Given the description of an element on the screen output the (x, y) to click on. 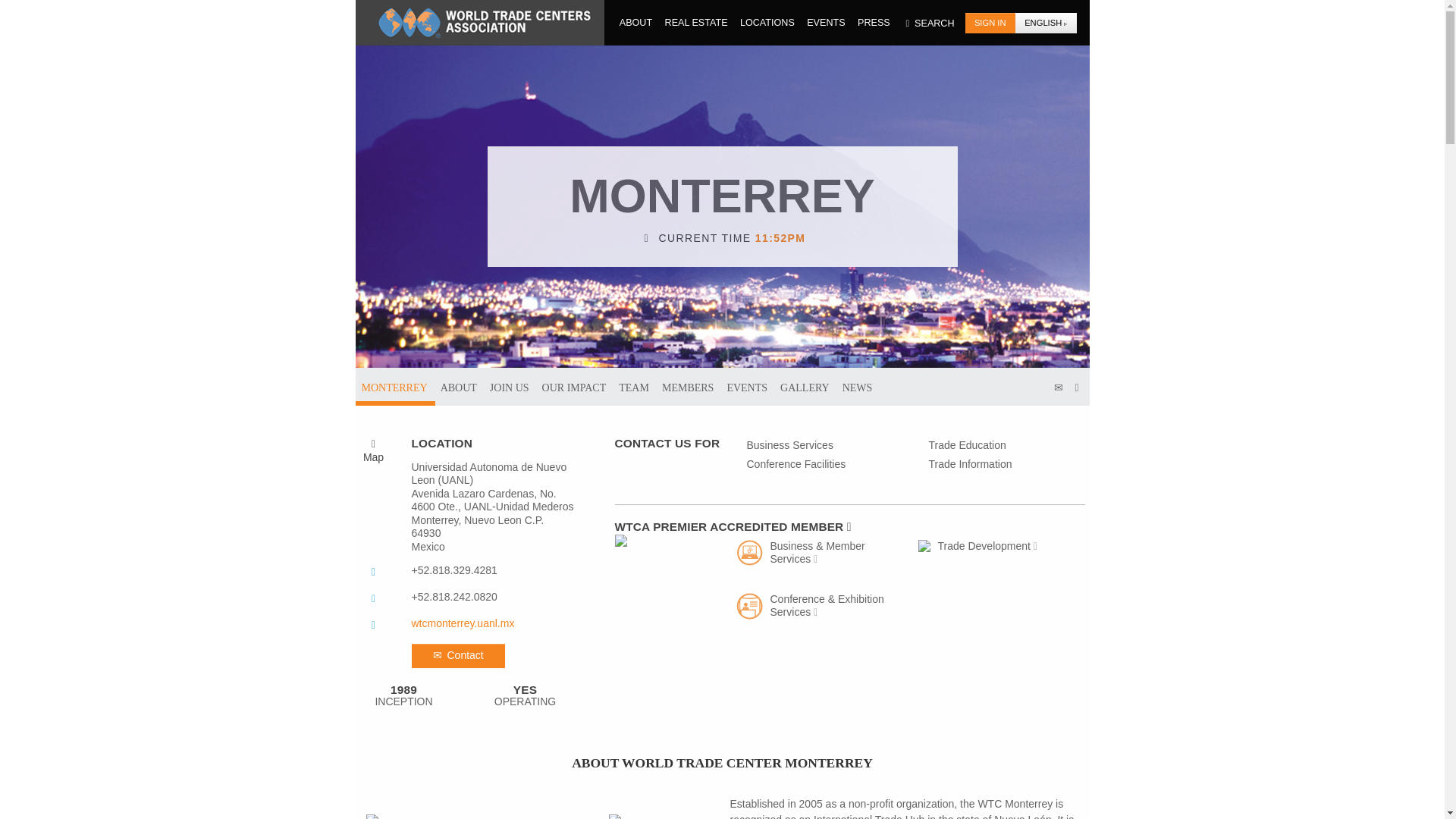
MONTERREY (393, 386)
wtcmonterrey.uanl.mx (461, 623)
SIGN IN (989, 23)
LOCATIONS (766, 22)
ABOUT (458, 386)
GALLERY (805, 386)
TEAM (633, 386)
ABOUT (635, 22)
NEWS (857, 386)
WTCA PREMIER ACCREDITED MEMBER (849, 525)
